Given the description of an element on the screen output the (x, y) to click on. 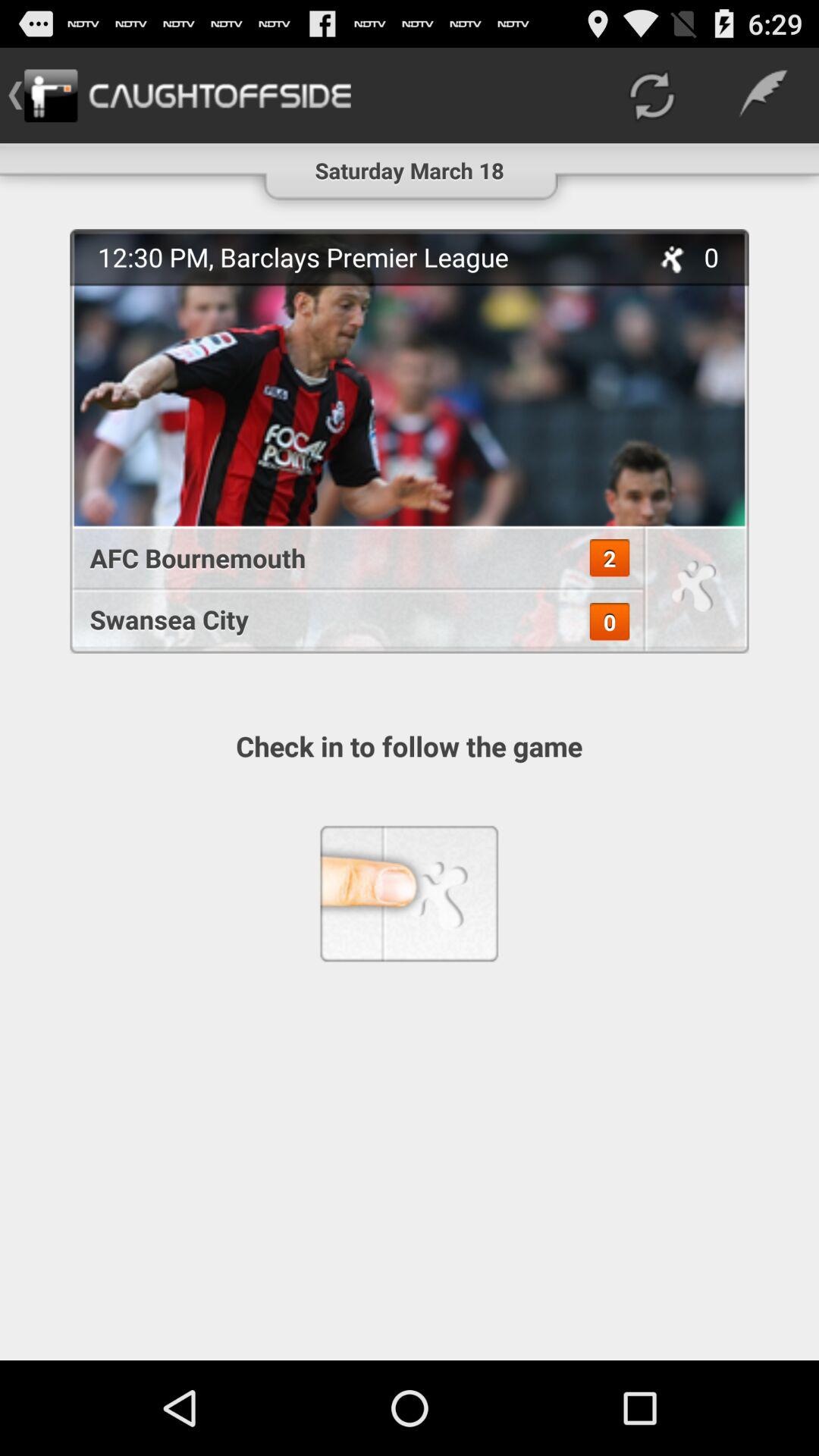
flip to 2 (609, 558)
